Given the description of an element on the screen output the (x, y) to click on. 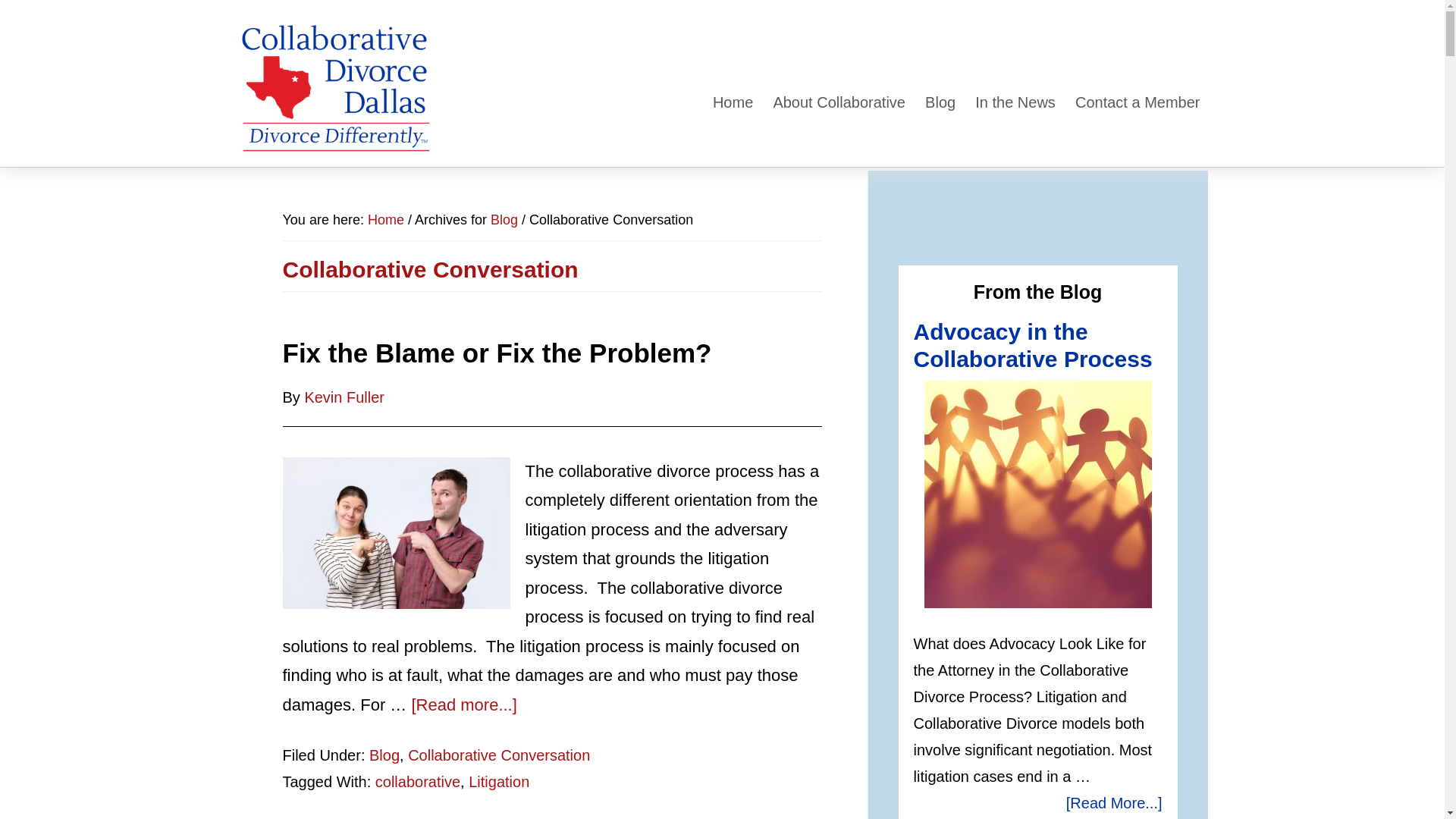
Advocacy in the Collaborative Process (1031, 345)
Contact a Member (1137, 94)
collaborative (417, 781)
Kevin Fuller (344, 396)
Advocacy in the Collaborative Process (1036, 494)
Litigation (498, 781)
COLLABORATIVE DIVORCE DALLAS (334, 89)
About Collaborative (838, 94)
Home (386, 219)
Fix the Blame or Fix the Problem? (496, 352)
Blog (939, 94)
Blog (504, 219)
Collaborative Conversation (498, 754)
Home (732, 94)
